Given the description of an element on the screen output the (x, y) to click on. 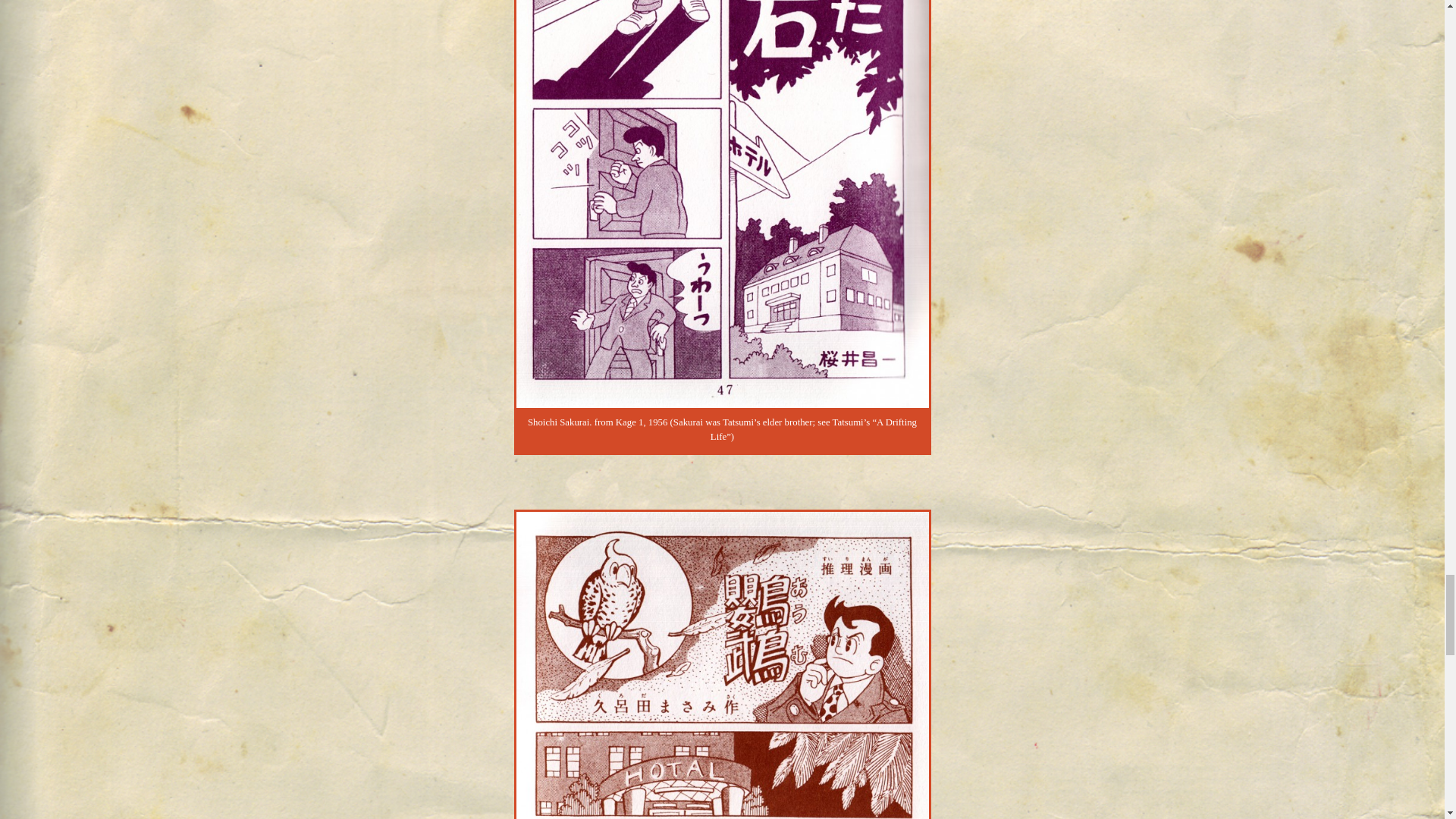
Mitsuko Kuroda maube - Kage 1A (721, 665)
